Given the description of an element on the screen output the (x, y) to click on. 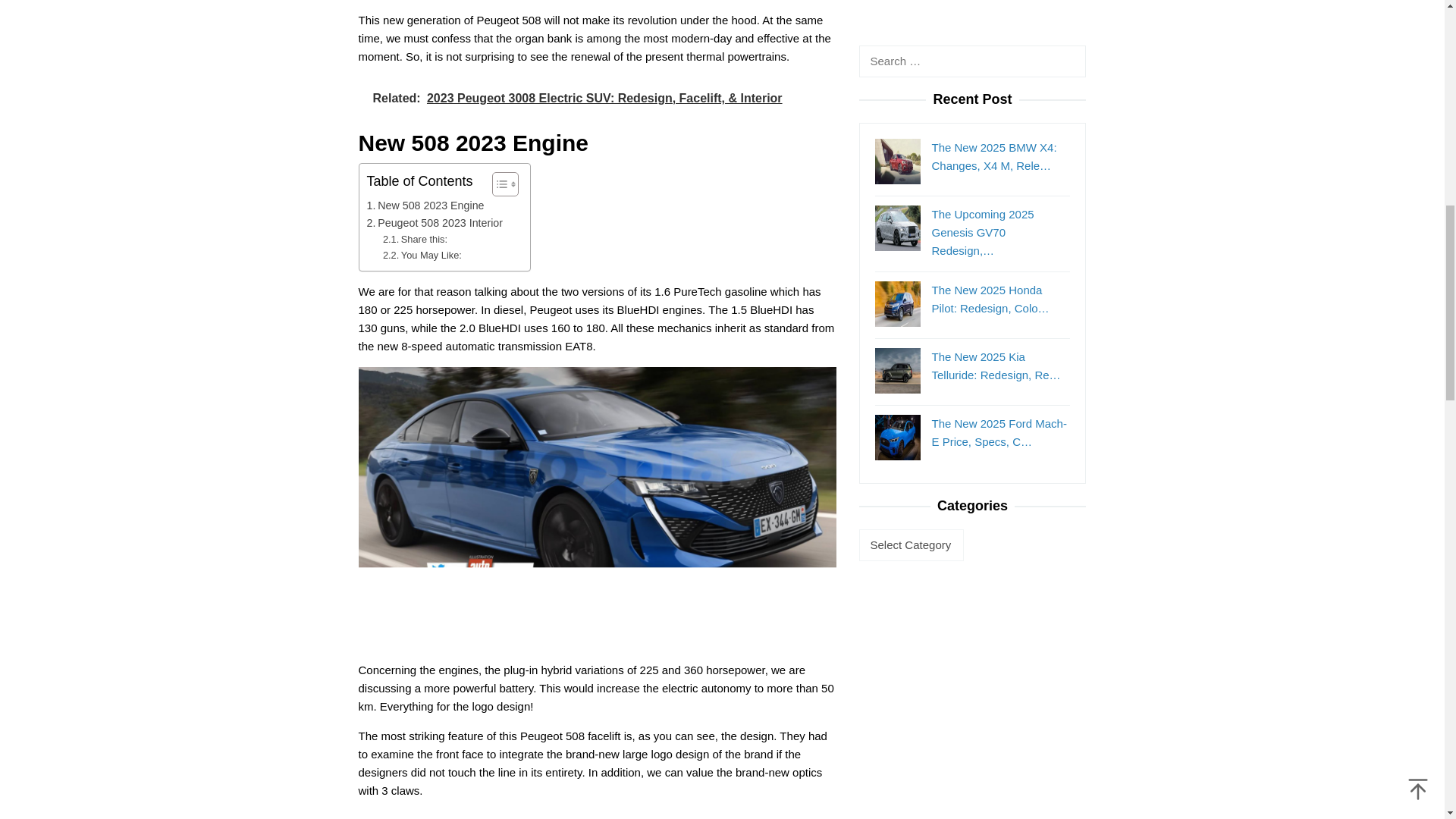
New 508 2023 Engine (425, 205)
Share this: (414, 239)
Peugeot 508 2023 Interior (434, 222)
You May Like: (421, 255)
